Given the description of an element on the screen output the (x, y) to click on. 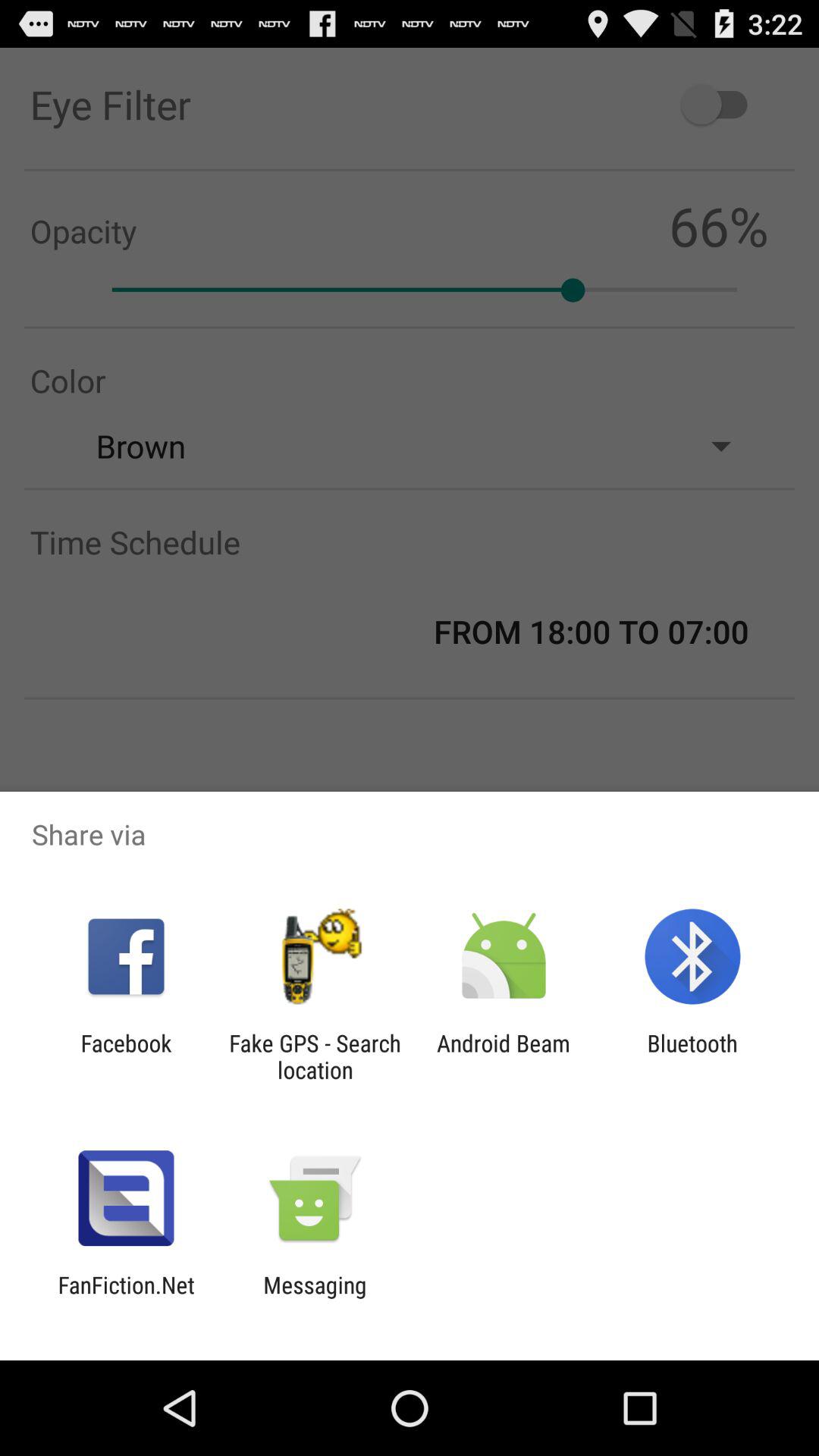
swipe to the android beam app (503, 1056)
